Given the description of an element on the screen output the (x, y) to click on. 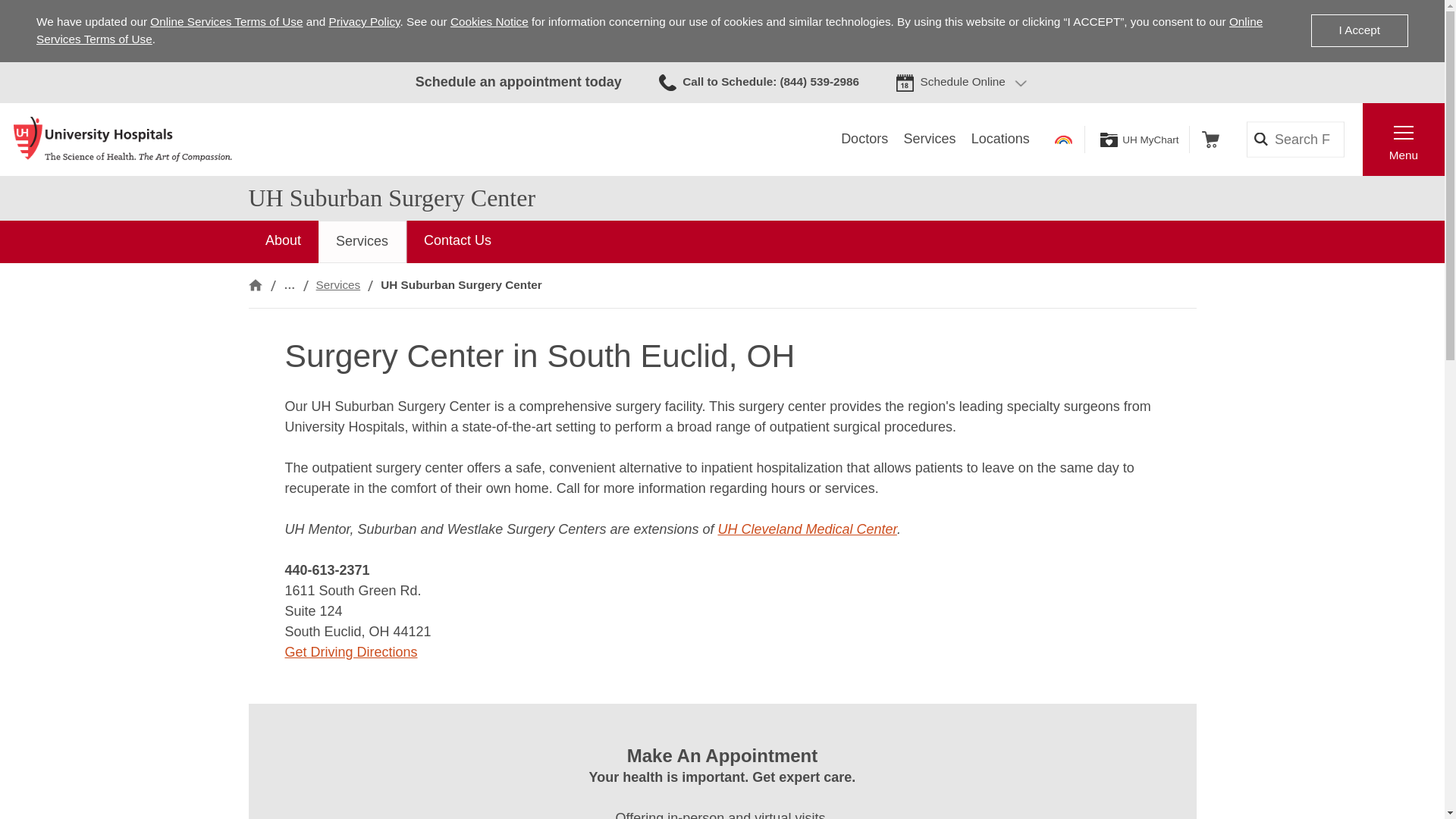
Privacy Policy (363, 21)
Online Services Terms of Use (225, 21)
Get Directions (351, 652)
Schedule Online (962, 81)
Cookies Notice (488, 21)
Online Services Terms of Use (649, 30)
I Accept (1359, 30)
